Given the description of an element on the screen output the (x, y) to click on. 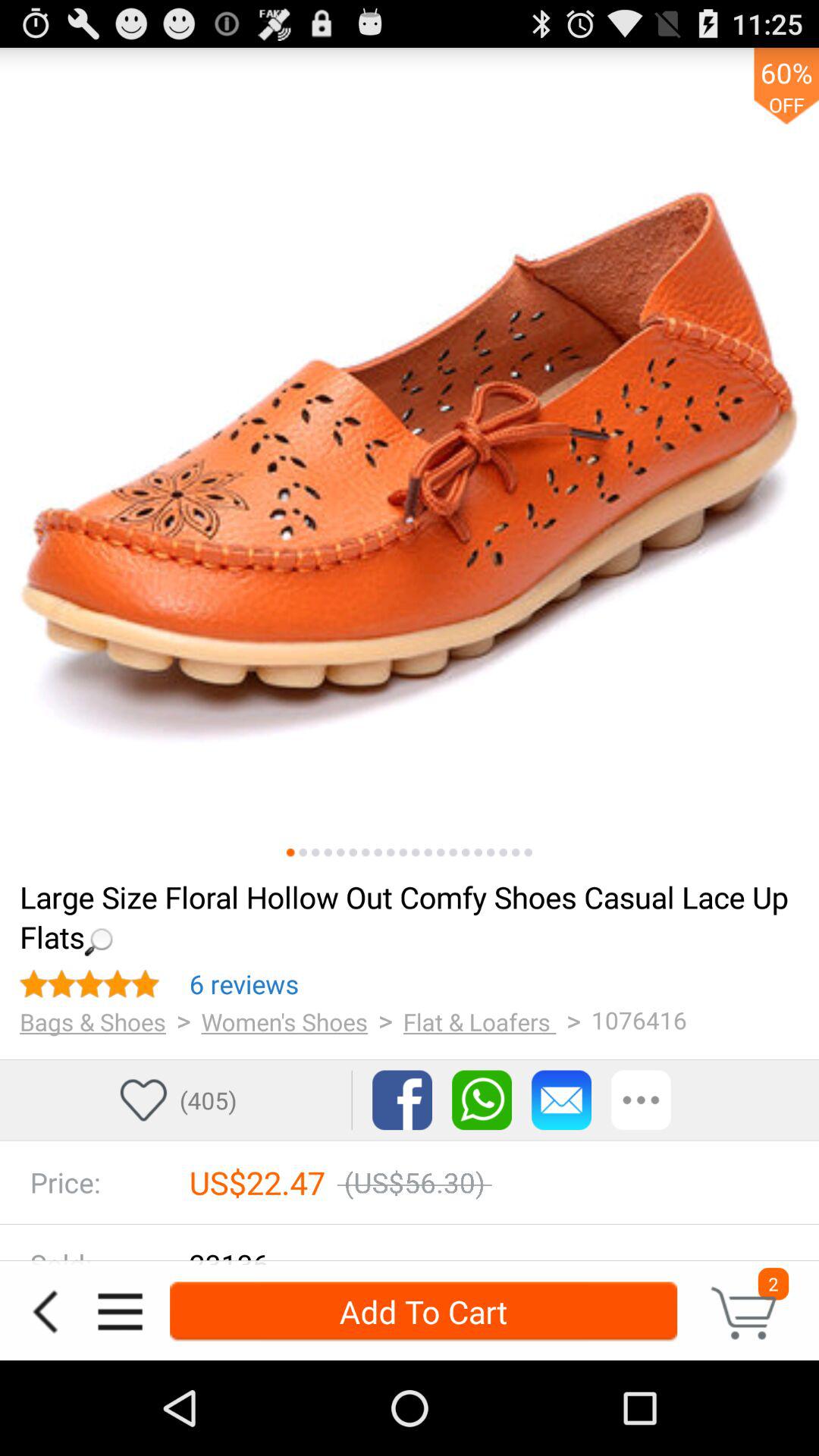
next picture (453, 852)
